Given the description of an element on the screen output the (x, y) to click on. 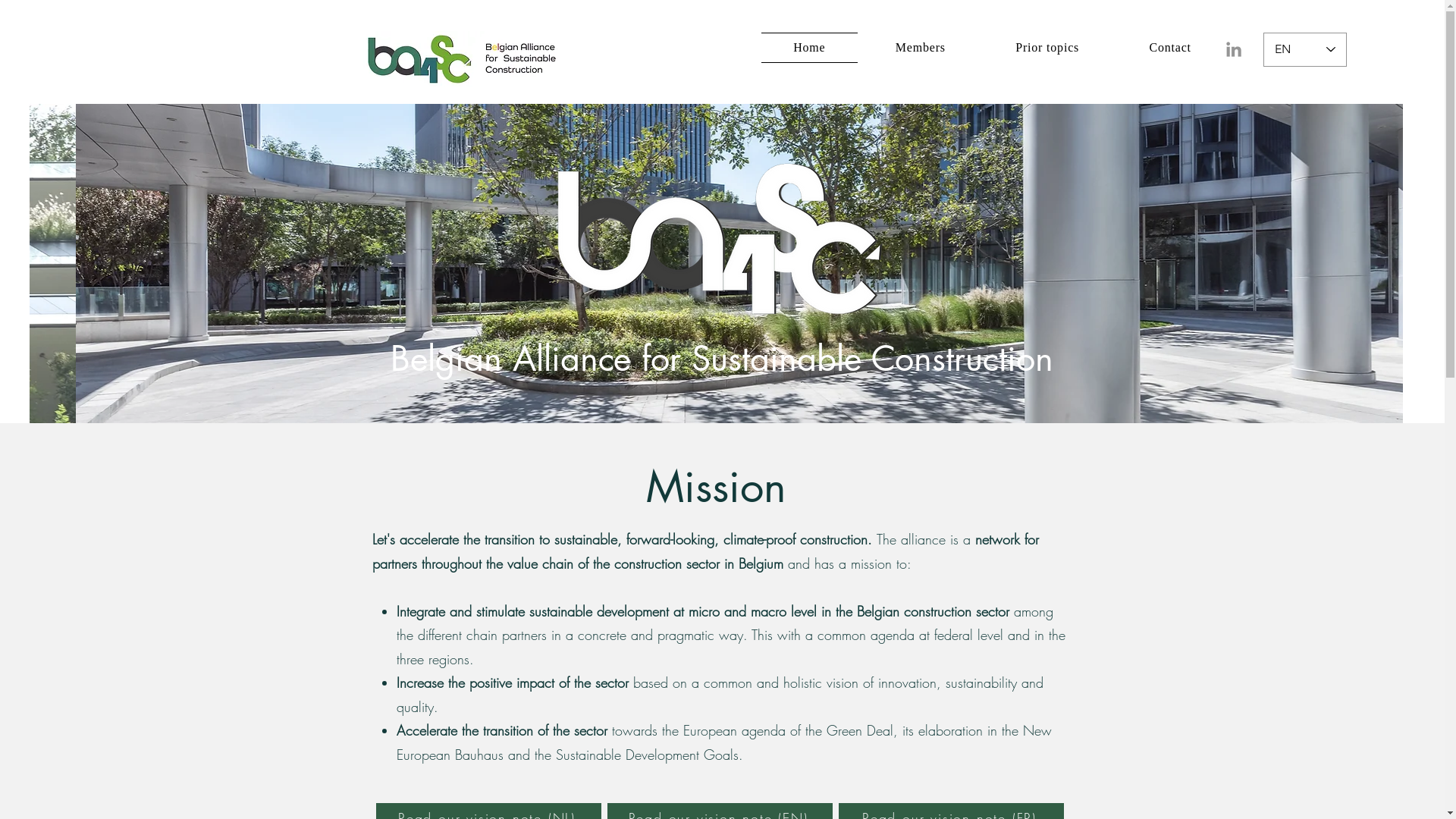
Prior topics Element type: text (1046, 47)
Members Element type: text (920, 47)
Contact Element type: text (1170, 47)
Home Element type: text (809, 47)
